Given the description of an element on the screen output the (x, y) to click on. 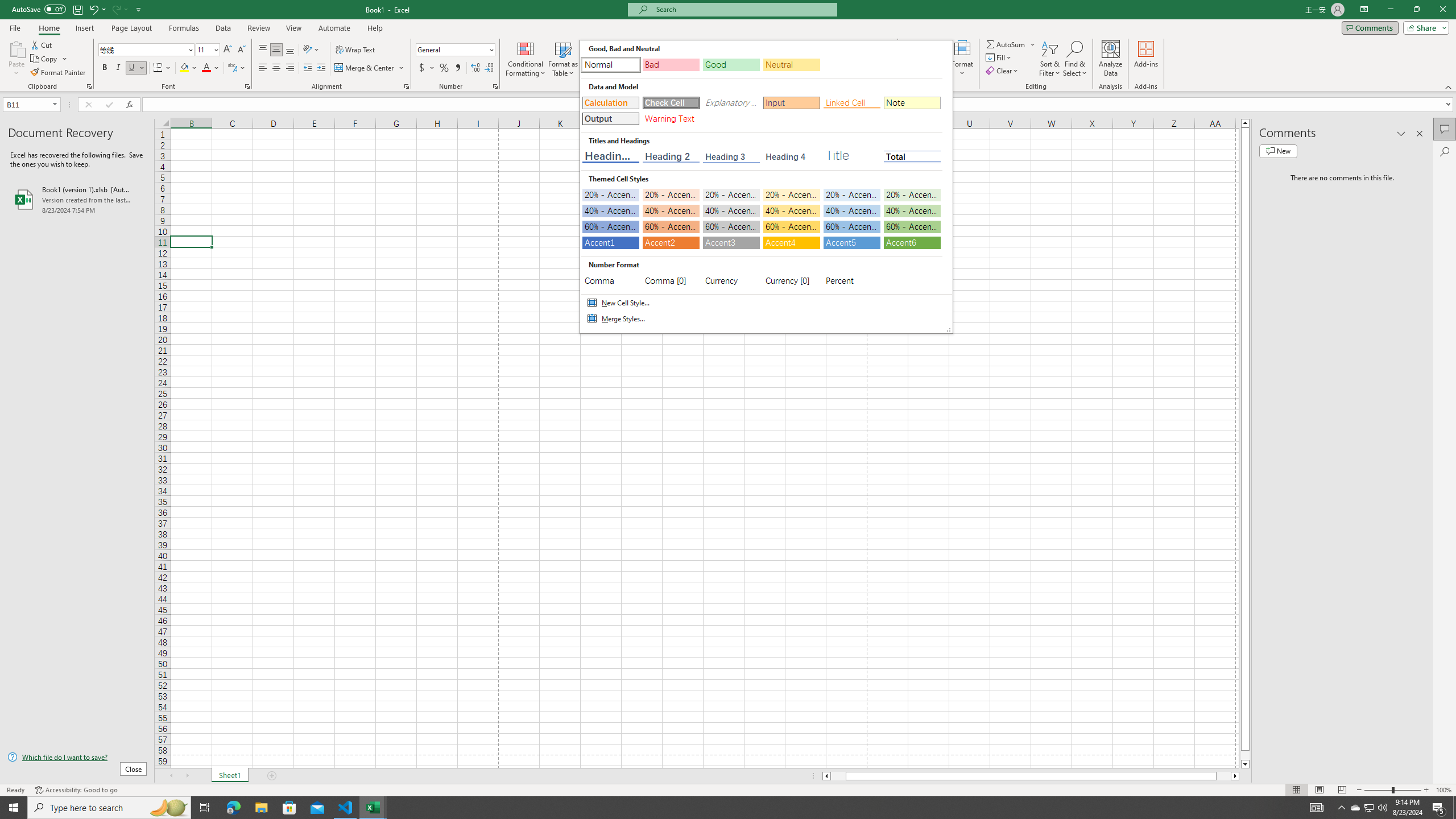
Merge & Center (369, 67)
Font Size (204, 49)
Conditional Formatting (525, 58)
Type here to search (108, 807)
Bottom Border (157, 67)
Show desktop (1454, 807)
Visual Studio Code - 1 running window (345, 807)
Cut (42, 44)
Comma Style (457, 67)
